Given the description of an element on the screen output the (x, y) to click on. 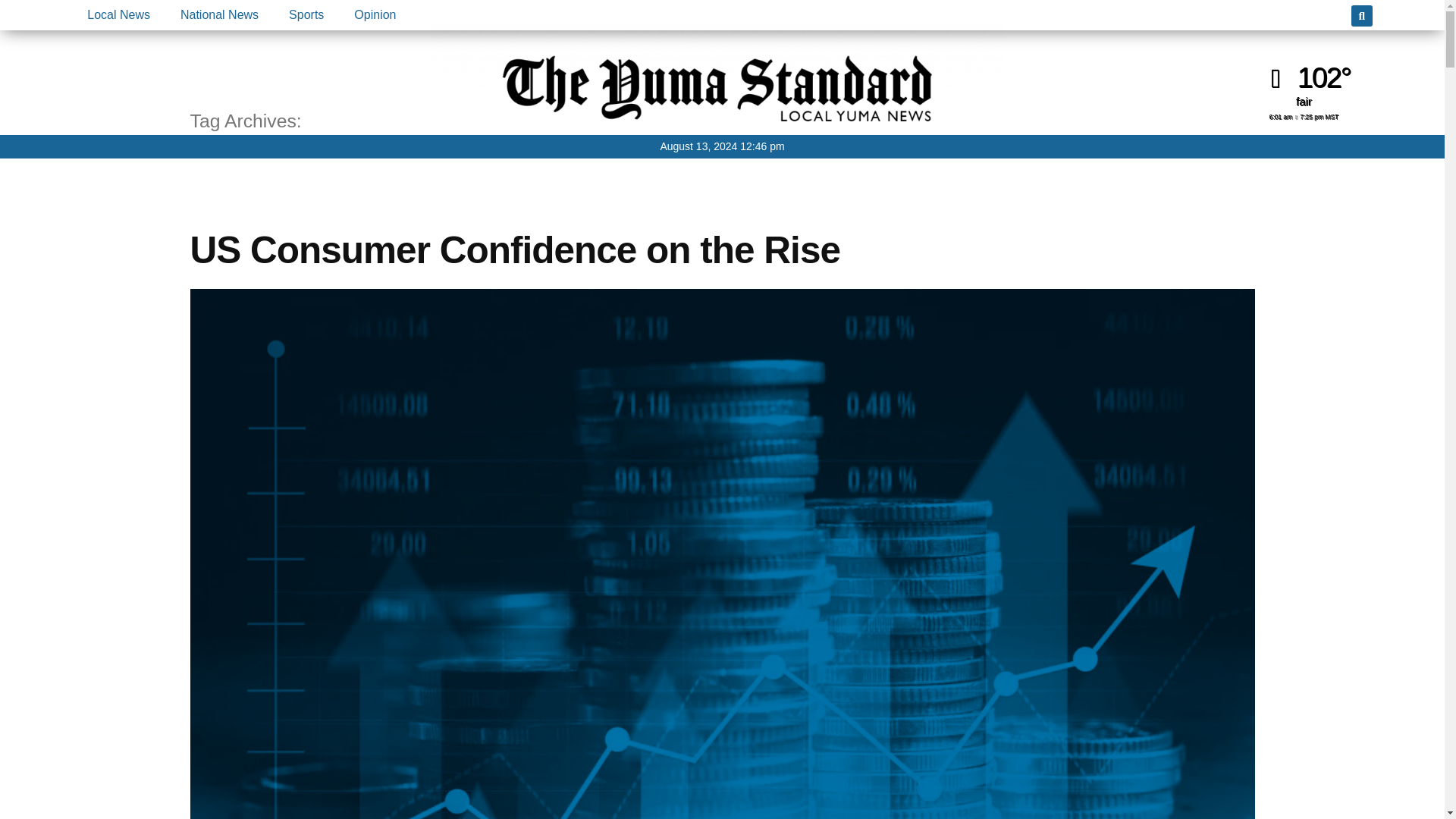
National News (219, 14)
Opinion (374, 14)
Sports (306, 14)
Local News (118, 14)
US Consumer Confidence on the Rise (514, 250)
